Given the description of an element on the screen output the (x, y) to click on. 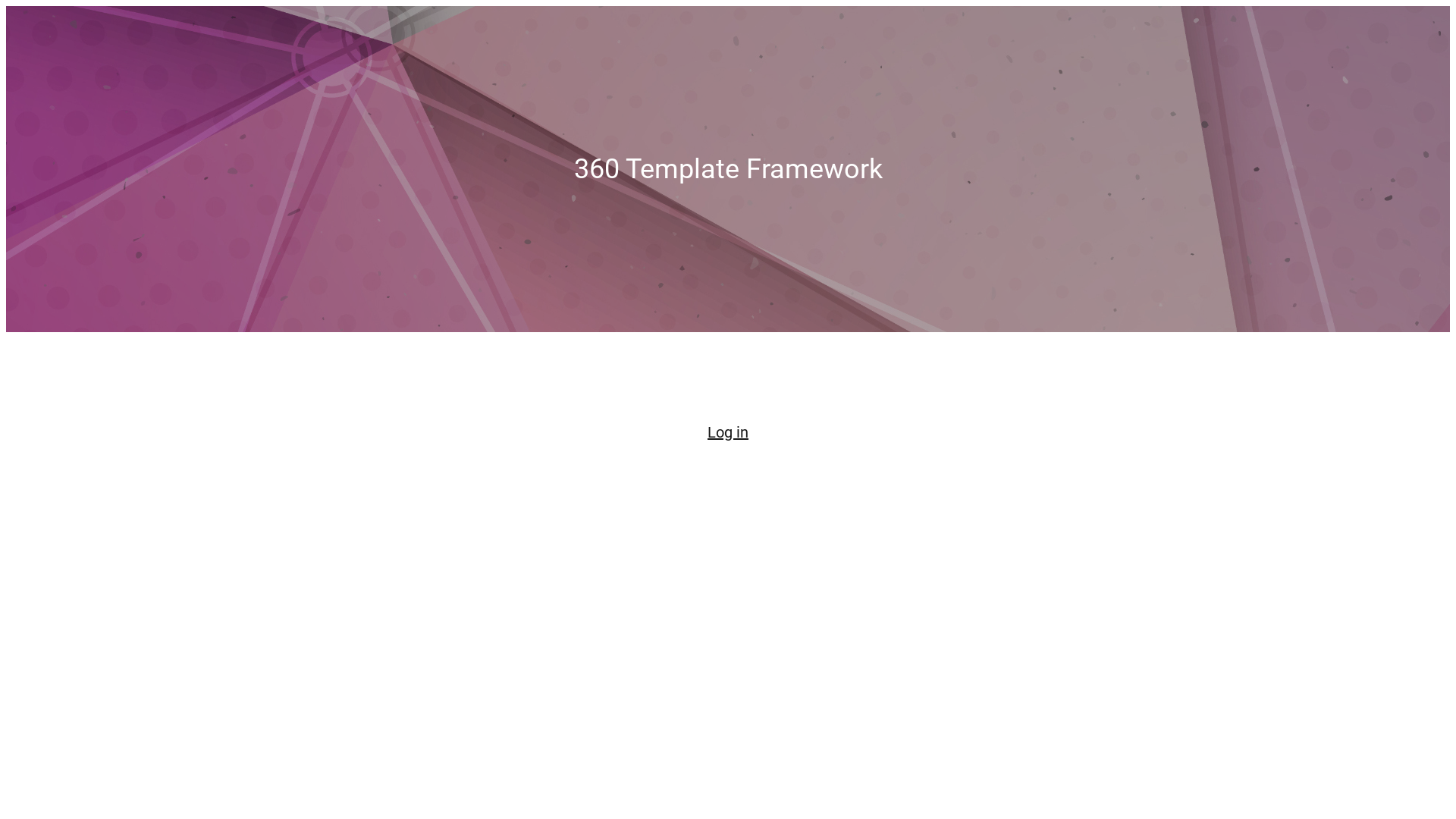
Log in Element type: text (727, 432)
